Given the description of an element on the screen output the (x, y) to click on. 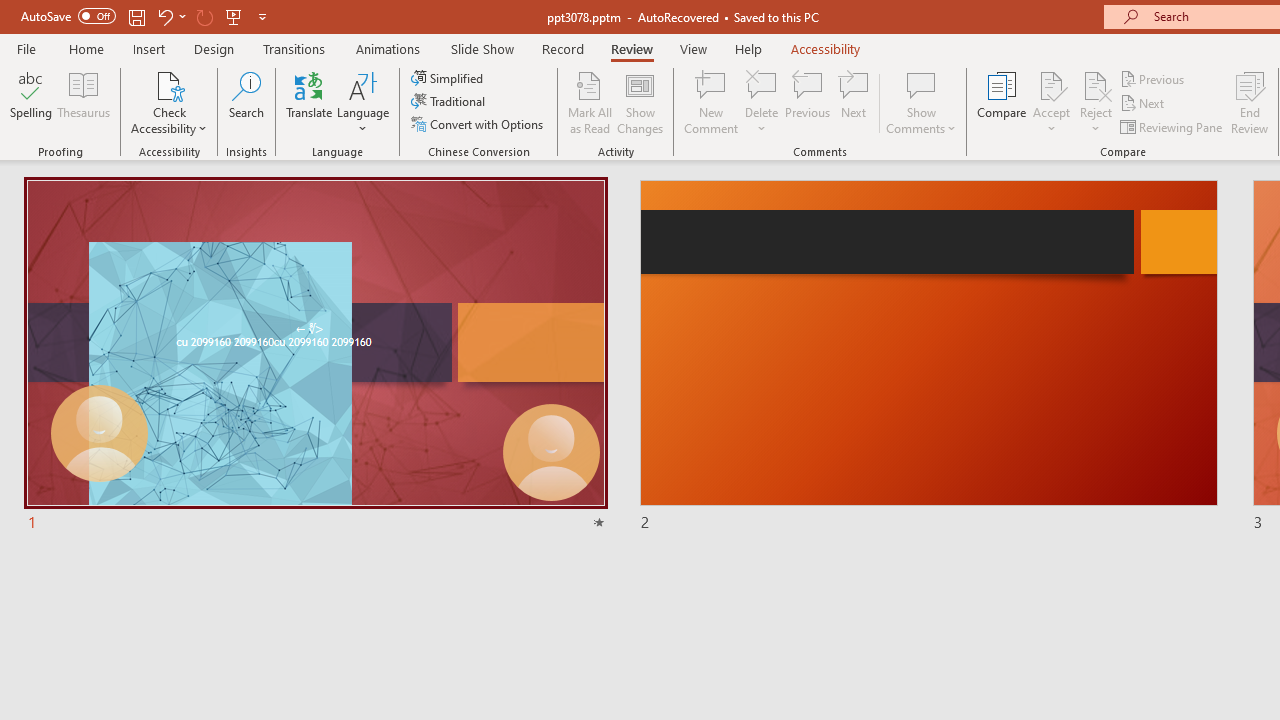
Home (86, 48)
End Review (1249, 102)
Previous (1153, 78)
Compare (1002, 102)
New Comment (711, 102)
Reject Change (1096, 84)
Accessibility (825, 48)
Undo (164, 15)
More Options (1096, 121)
Redo (204, 15)
Thesaurus... (83, 102)
Show Comments (921, 84)
Animations (388, 48)
File Tab (26, 48)
